Given the description of an element on the screen output the (x, y) to click on. 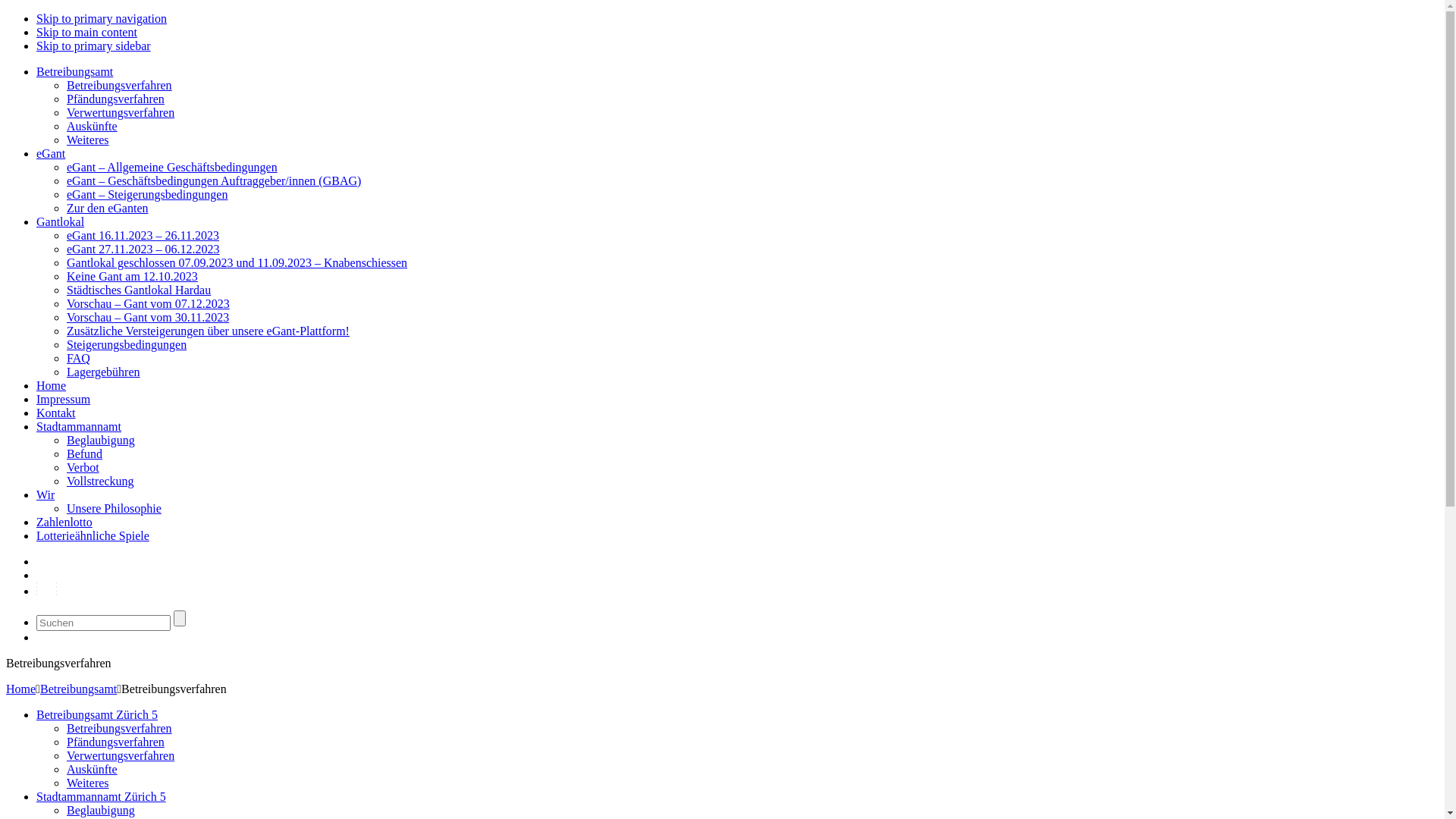
Zahlenlotto Element type: text (64, 521)
Skip to main content Element type: text (86, 31)
Unsere Philosophie Element type: text (113, 508)
Stadtammannamt Element type: text (78, 426)
Steigerungsbedingungen Element type: text (126, 344)
Home Element type: text (20, 688)
Home Element type: text (50, 385)
Kontakt Element type: text (55, 412)
Vollstreckung Element type: text (100, 480)
FAQ Element type: text (78, 357)
Beglaubigung Element type: text (100, 809)
Betreibungsamt Element type: text (78, 688)
Beglaubigung Element type: text (100, 439)
Betreibungsverfahren Element type: text (119, 84)
Gantlokal Element type: text (60, 221)
Weiteres Element type: text (87, 782)
Betreibungsverfahren Element type: text (119, 727)
Impressum Element type: text (63, 398)
Befund Element type: text (84, 453)
Keine Gant am 12.10.2023 Element type: text (131, 275)
Skip to primary navigation Element type: text (101, 18)
Skip to primary sidebar Element type: text (93, 45)
Weiteres Element type: text (87, 139)
Verbot Element type: text (82, 467)
Betreibungsamt Element type: text (74, 71)
Verwertungsverfahren Element type: text (120, 755)
Verwertungsverfahren Element type: text (120, 112)
eGant Element type: text (50, 153)
Zur den eGanten Element type: text (107, 207)
Wir Element type: text (45, 494)
